Given the description of an element on the screen output the (x, y) to click on. 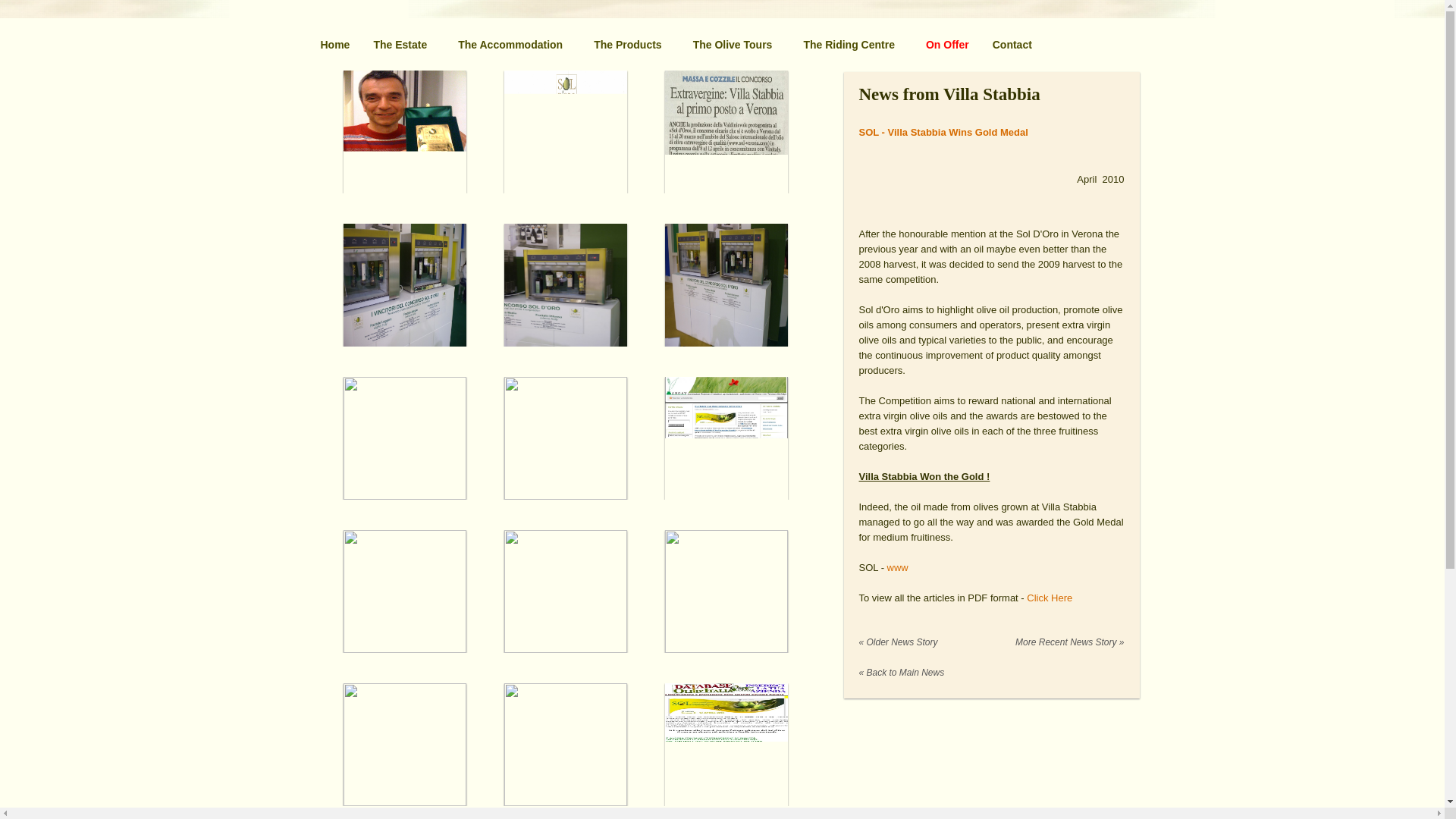
www (897, 567)
The Olive Tours (732, 44)
Home (334, 44)
The Products (627, 44)
The Accommodation (510, 44)
Contact (1012, 44)
Click Here (1048, 597)
The Riding Centre (848, 44)
On Offer (947, 44)
The Estate (400, 44)
